Given the description of an element on the screen output the (x, y) to click on. 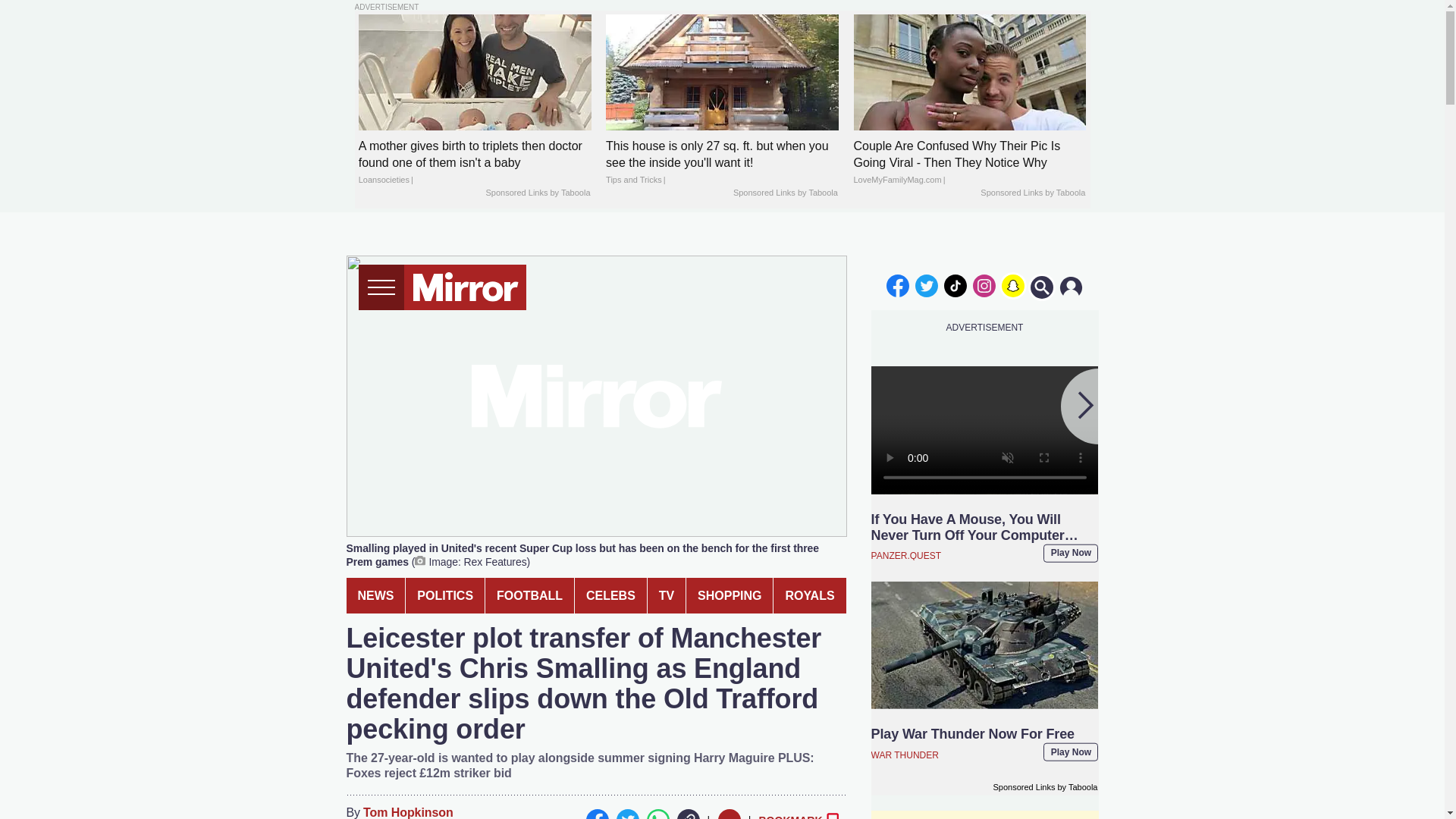
facebook (897, 285)
Sponsored Links by Taboola (785, 193)
Sponsored Links by Taboola (536, 193)
Sponsored Links by Taboola (1031, 193)
